Given the description of an element on the screen output the (x, y) to click on. 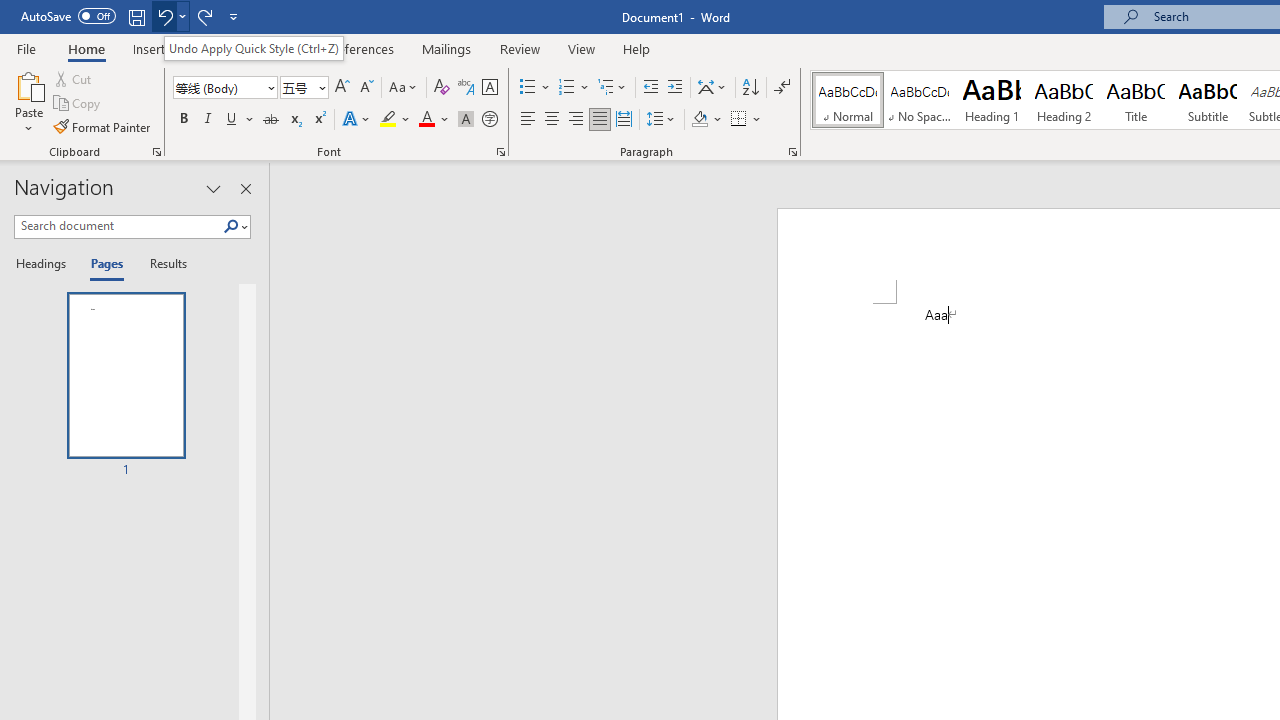
Undo Apply Quick Style (170, 15)
